Given the description of an element on the screen output the (x, y) to click on. 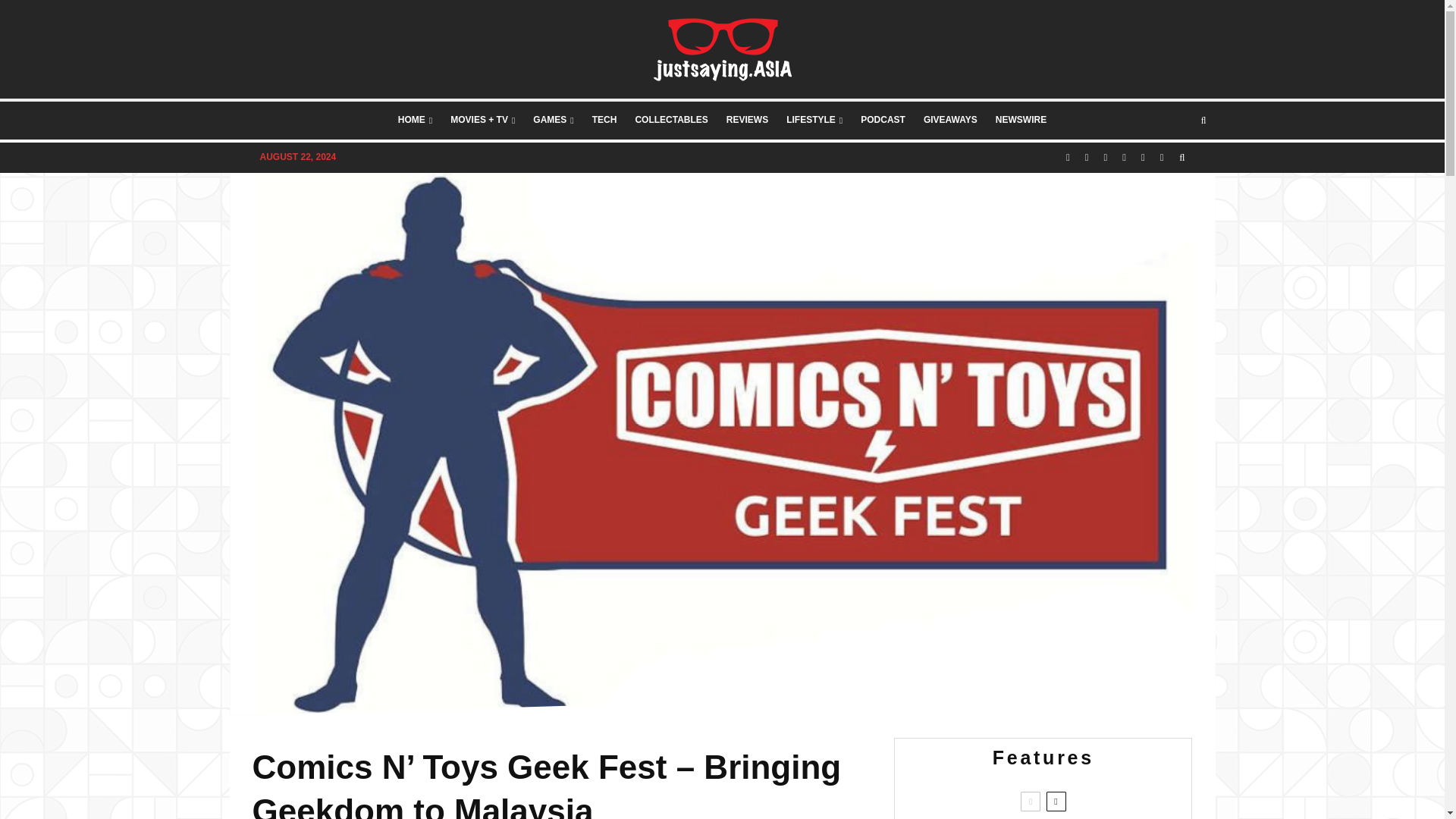
GAMES (553, 120)
HOME (414, 120)
TECH (604, 120)
